Given the description of an element on the screen output the (x, y) to click on. 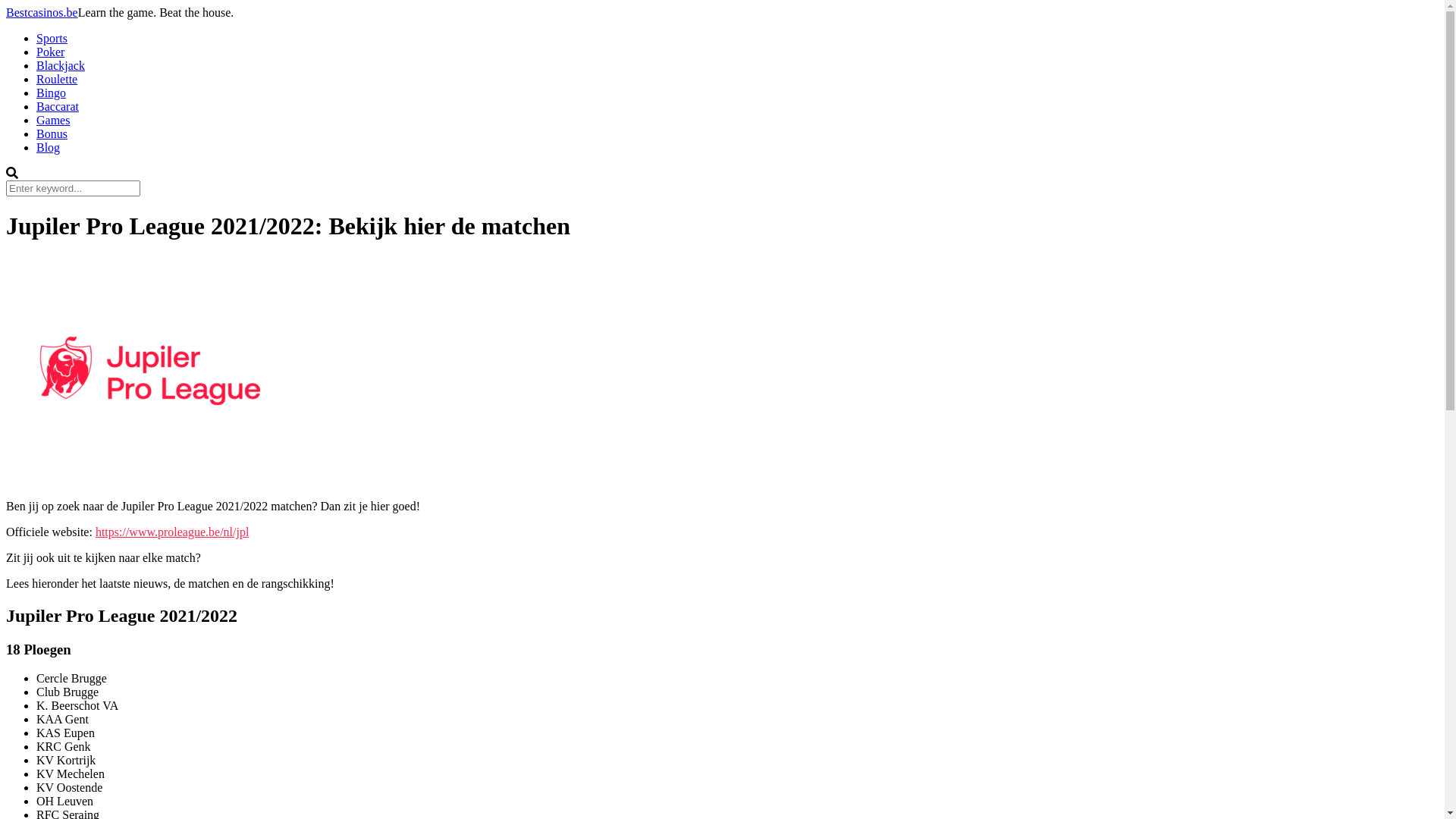
Bingo Element type: text (50, 92)
Bestcasinos.be Element type: text (42, 12)
https://www.proleague.be/nl/jpl Element type: text (171, 531)
Sports Element type: text (51, 37)
Bonus Element type: text (51, 133)
Roulette Element type: text (56, 78)
Games Element type: text (52, 119)
Poker Element type: text (50, 51)
Baccarat Element type: text (57, 106)
Blackjack Element type: text (60, 65)
Blog Element type: text (47, 147)
